Given the description of an element on the screen output the (x, y) to click on. 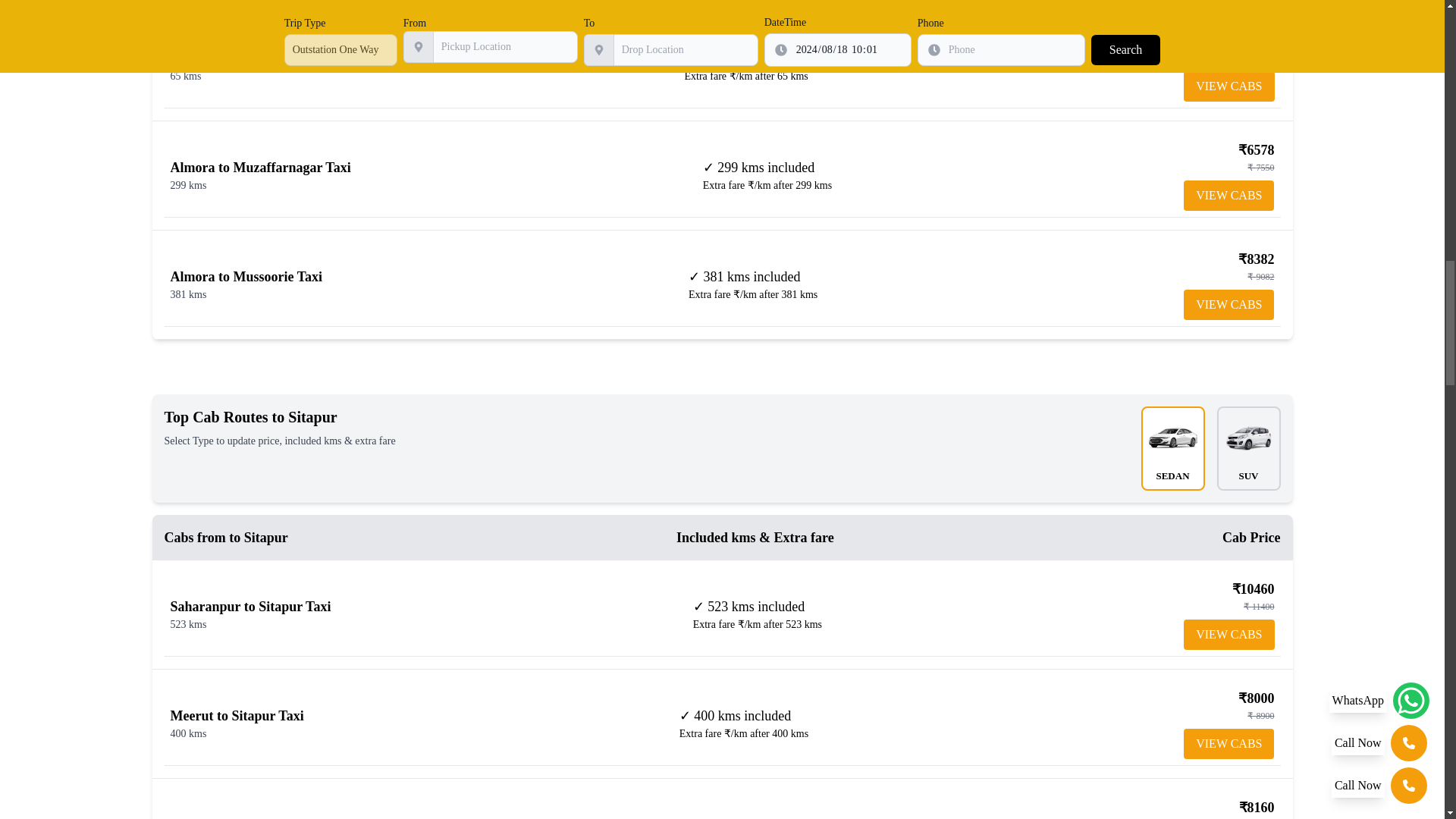
VIEW CABS (1228, 634)
VIEW CABS (1228, 86)
Almora to Muzaffarnagar Taxi (260, 166)
Almora to Mussoorie Taxi (245, 275)
VIEW CABS (1228, 743)
Saharanpur to Sitapur Taxi (250, 606)
Almora to Nainital Taxi (239, 57)
Meerut to Sitapur Taxi (236, 715)
VIEW CABS (1228, 195)
